Given the description of an element on the screen output the (x, y) to click on. 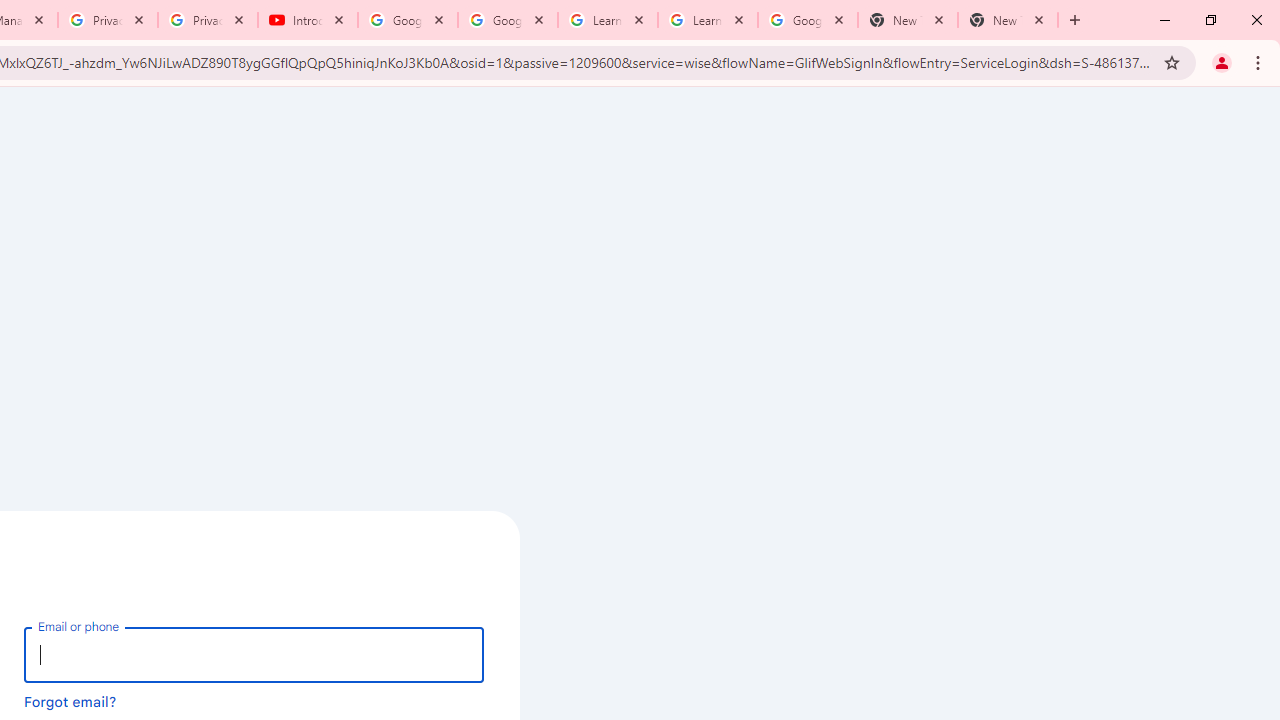
Google Account Help (408, 20)
New Tab (1007, 20)
Introduction | Google Privacy Policy - YouTube (308, 20)
Google Account Help (508, 20)
Forgot email? (70, 701)
